Given the description of an element on the screen output the (x, y) to click on. 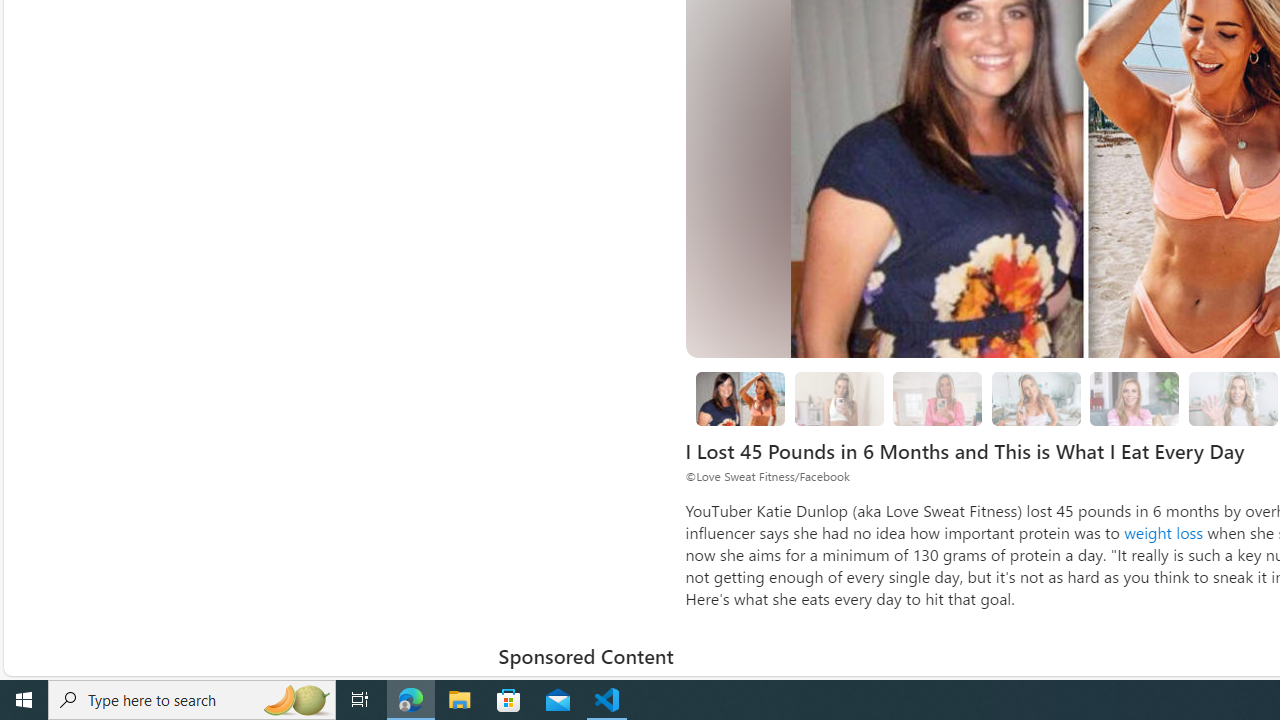
Class: progress (1134, 394)
15 Katie Stopped Trash Talking Yourself (1232, 399)
1 Smoothie Bowl (838, 398)
1 Smoothie Bowl (838, 399)
1 Katie Reduced Caffeine Intake (1035, 398)
weight loss (1163, 532)
13 If You Want to See Results, Be Consistent (1134, 398)
13 If You Want to See Results, Be Consistent (1135, 399)
1 Katie Reduced Caffeine Intake (1035, 399)
